Given the description of an element on the screen output the (x, y) to click on. 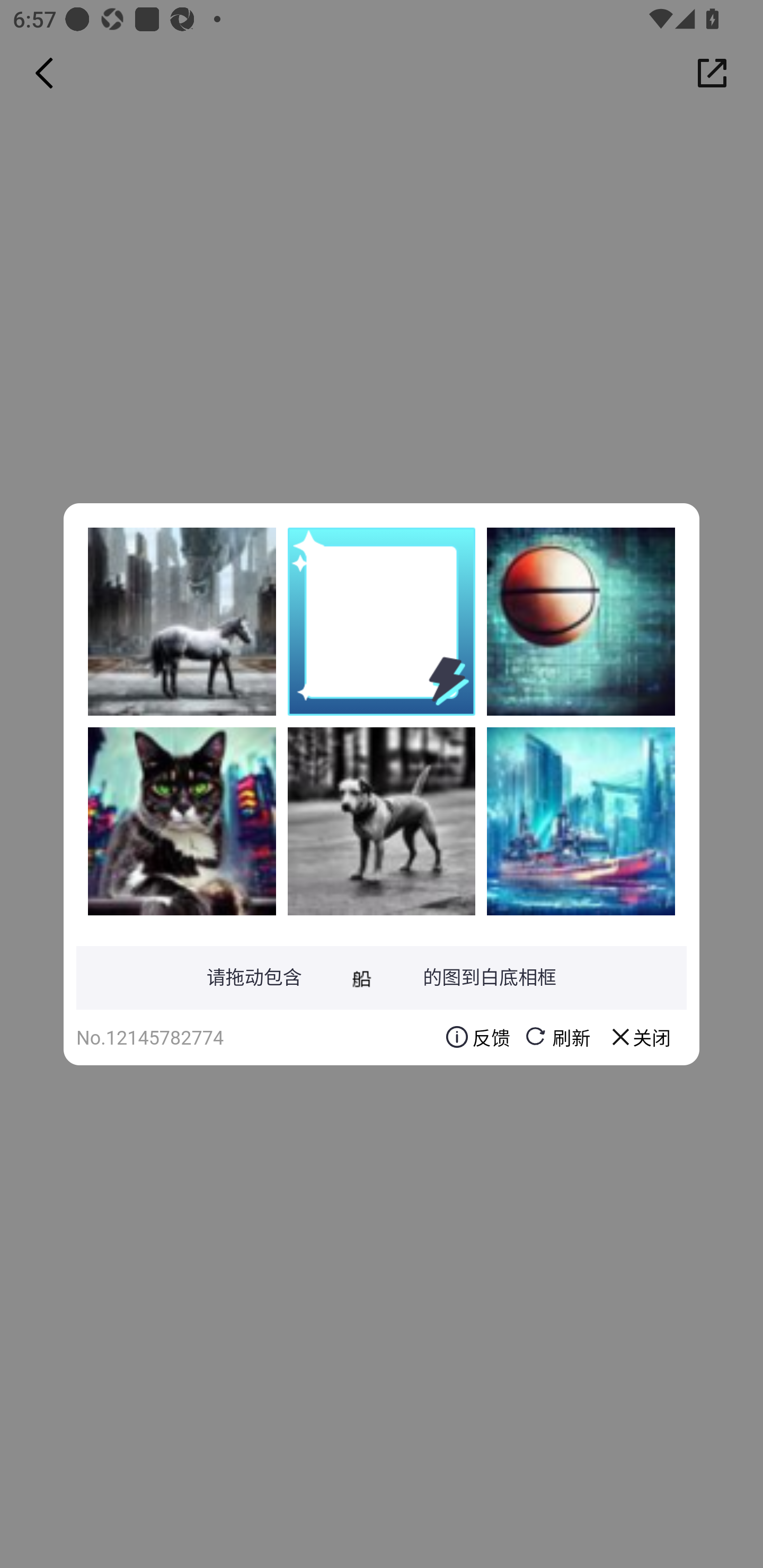
5soz (181, 621)
qfXYhLv+P3jL+ (580, 621)
+ (181, 820)
6yGoWC8mmuqcwXD+EoV (580, 820)
